Given the description of an element on the screen output the (x, y) to click on. 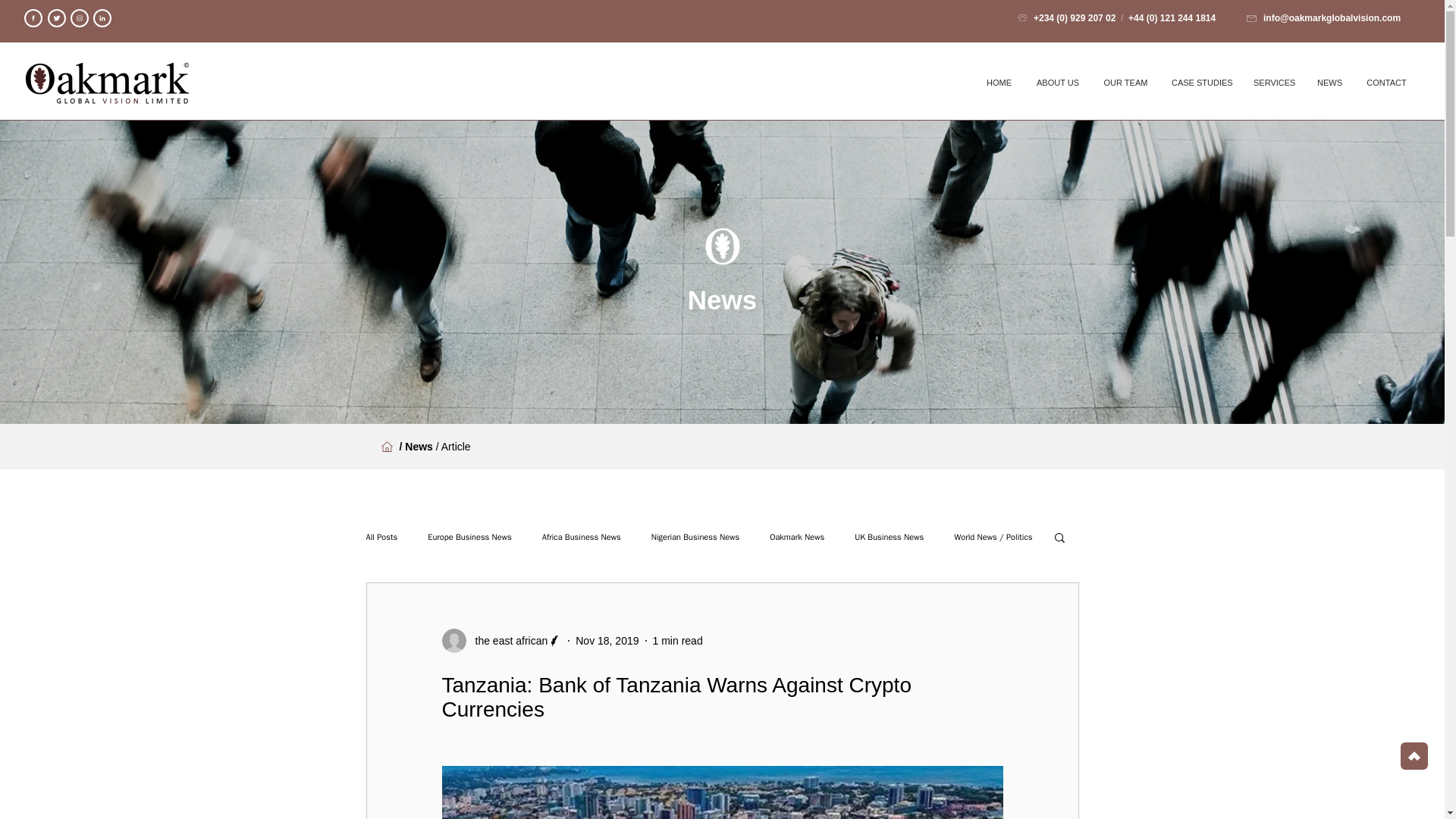
OUR TEAM (1125, 82)
Europe Business News (470, 536)
1 min read (677, 639)
Oakmark News (797, 536)
ABOUT US (1057, 82)
UK Business News (888, 536)
Africa Business News (581, 536)
Nov 18, 2019 (607, 639)
the east african (506, 640)
CASE STUDIES (1200, 82)
